Given the description of an element on the screen output the (x, y) to click on. 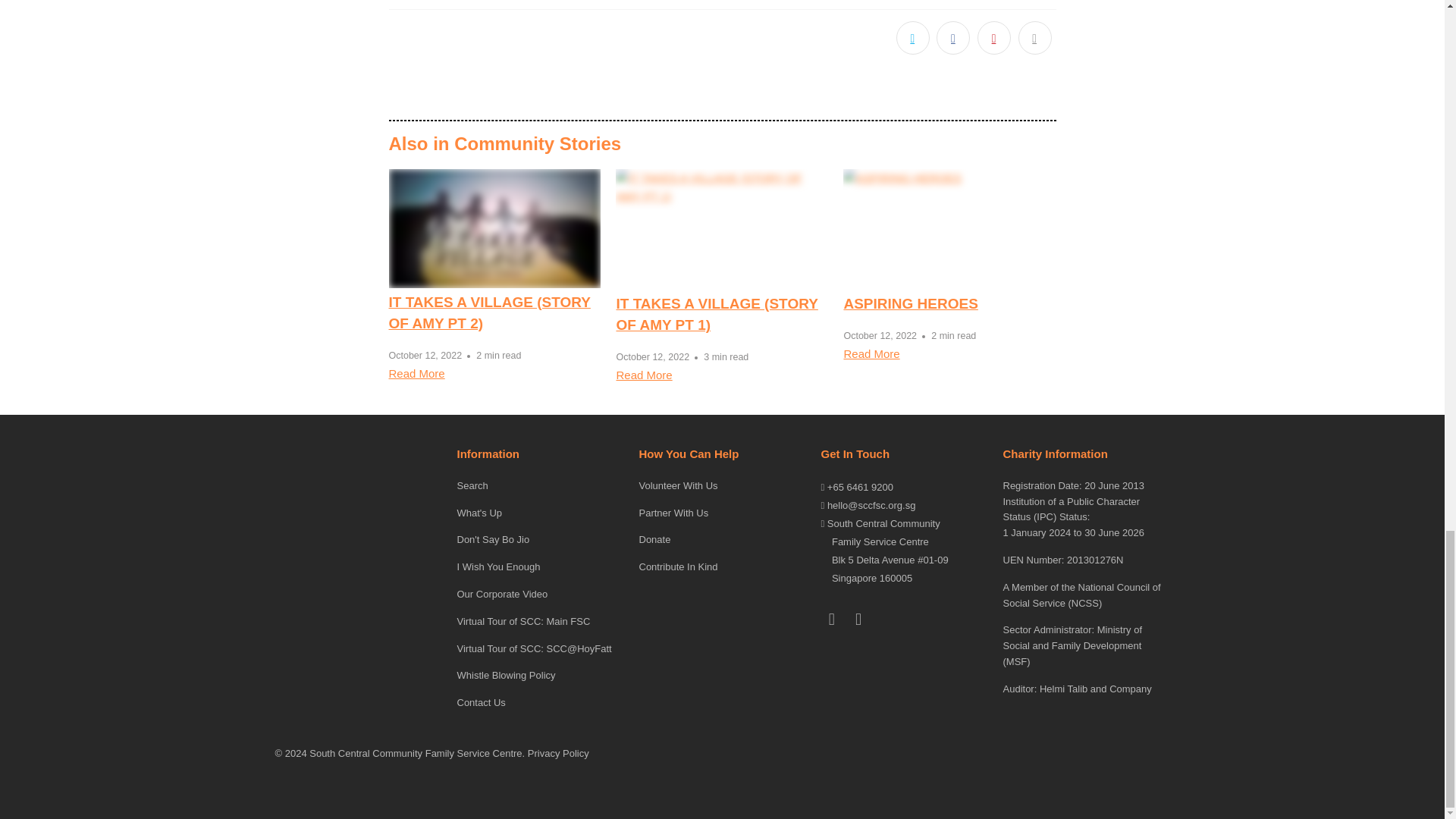
Share this on Pinterest (993, 37)
Share this on Facebook (952, 37)
Share this on Twitter (913, 37)
ASPIRING HEROES (909, 303)
Email this to a friend (1034, 37)
ASPIRING HEROES (871, 353)
ASPIRING HEROES (949, 228)
